Given the description of an element on the screen output the (x, y) to click on. 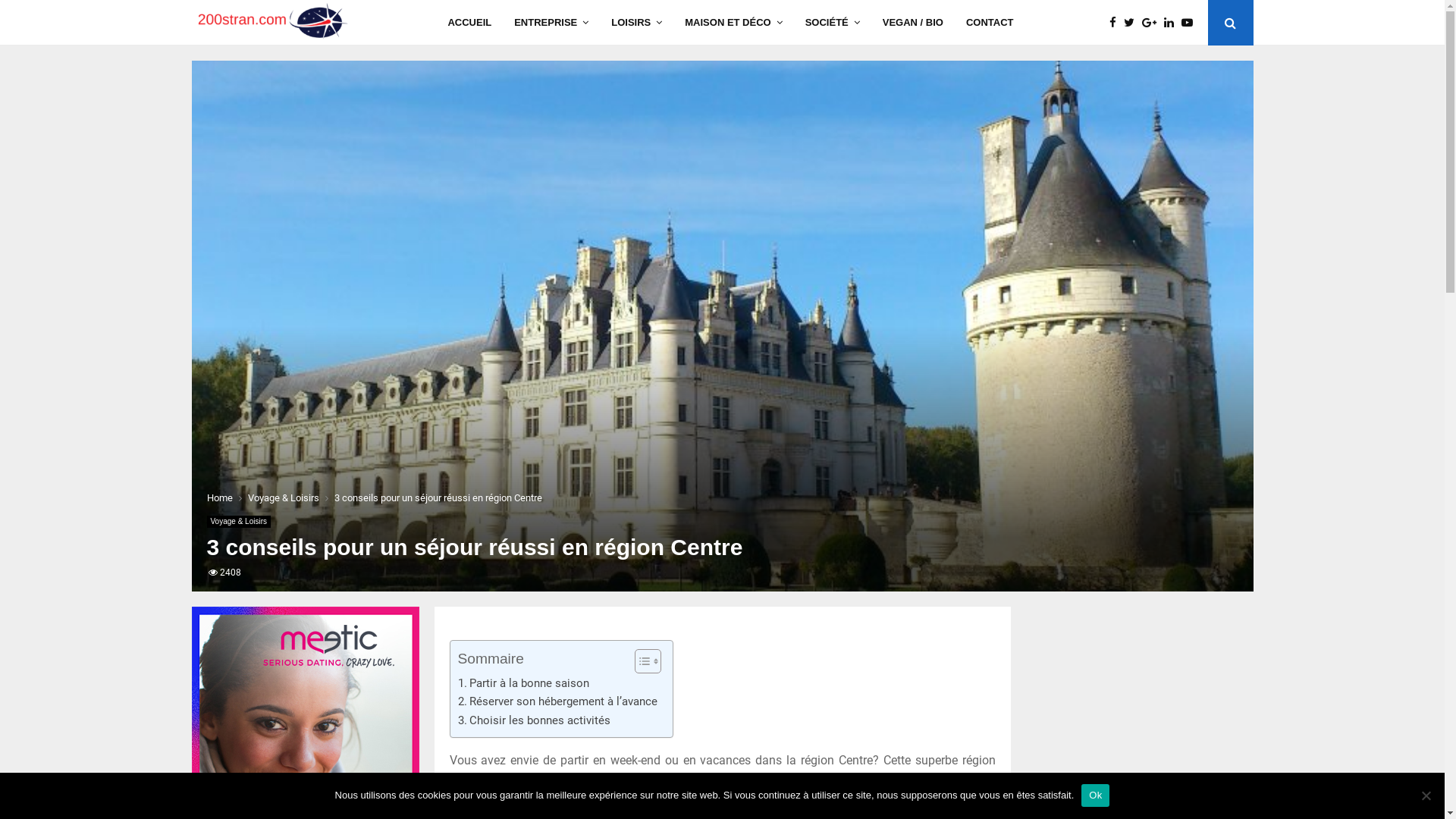
Ok Element type: text (1095, 795)
VEGAN / BIO Element type: text (912, 22)
Home Element type: text (219, 497)
ENTREPRISE Element type: text (551, 22)
Facebook Element type: hover (1116, 22)
Youtube Element type: hover (1190, 22)
Non Element type: hover (1425, 795)
Google Element type: hover (1153, 22)
Linkedin Element type: hover (1172, 22)
Twitter Element type: hover (1132, 22)
Voyage & Loisirs Element type: text (238, 521)
LOISIRS Element type: text (636, 22)
ACCUEIL Element type: text (469, 22)
Voyage & Loisirs Element type: text (282, 497)
CONTACT Element type: text (989, 22)
